Given the description of an element on the screen output the (x, y) to click on. 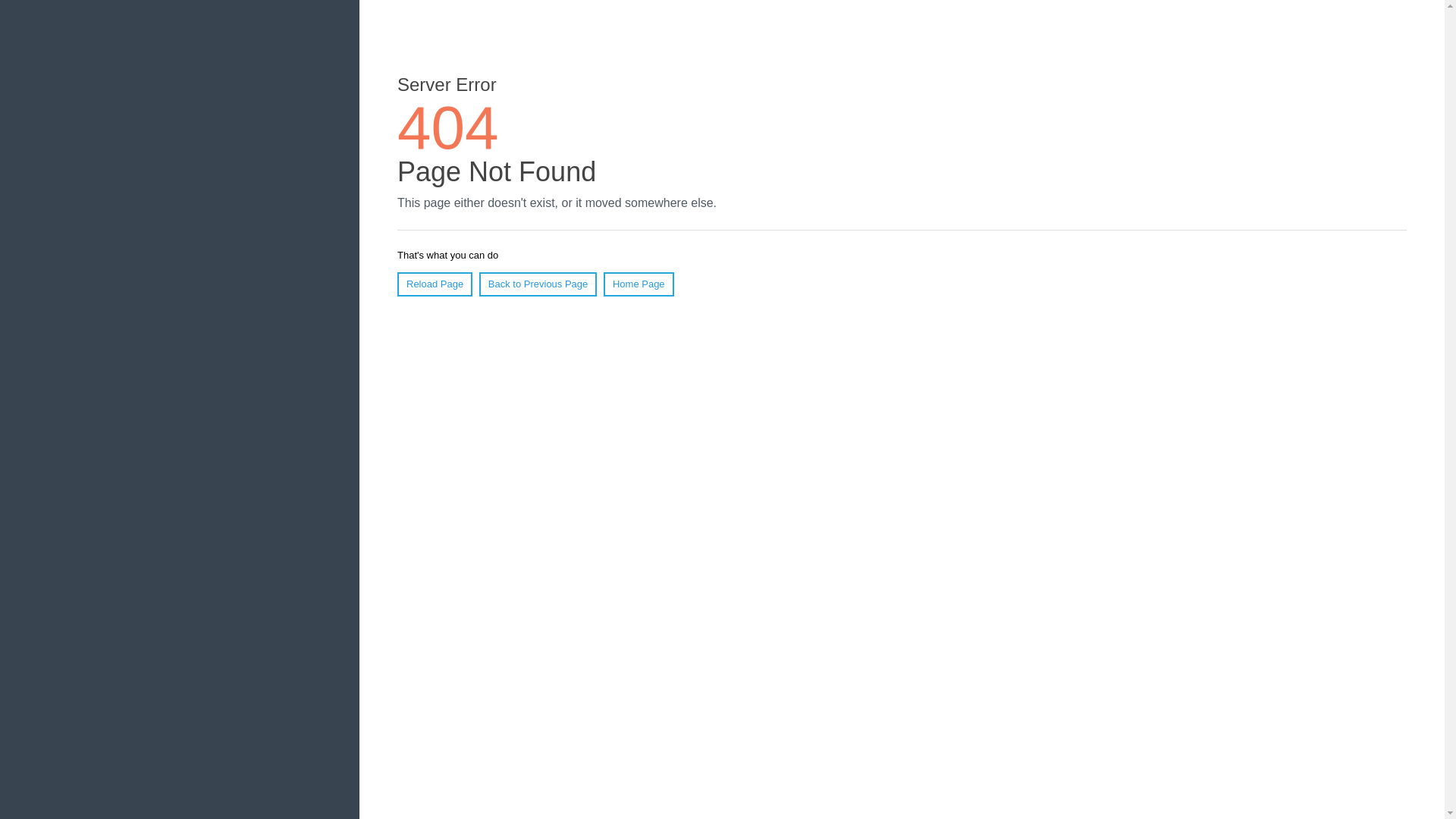
Reload Page Element type: text (434, 284)
Home Page Element type: text (638, 284)
Back to Previous Page Element type: text (538, 284)
